Given the description of an element on the screen output the (x, y) to click on. 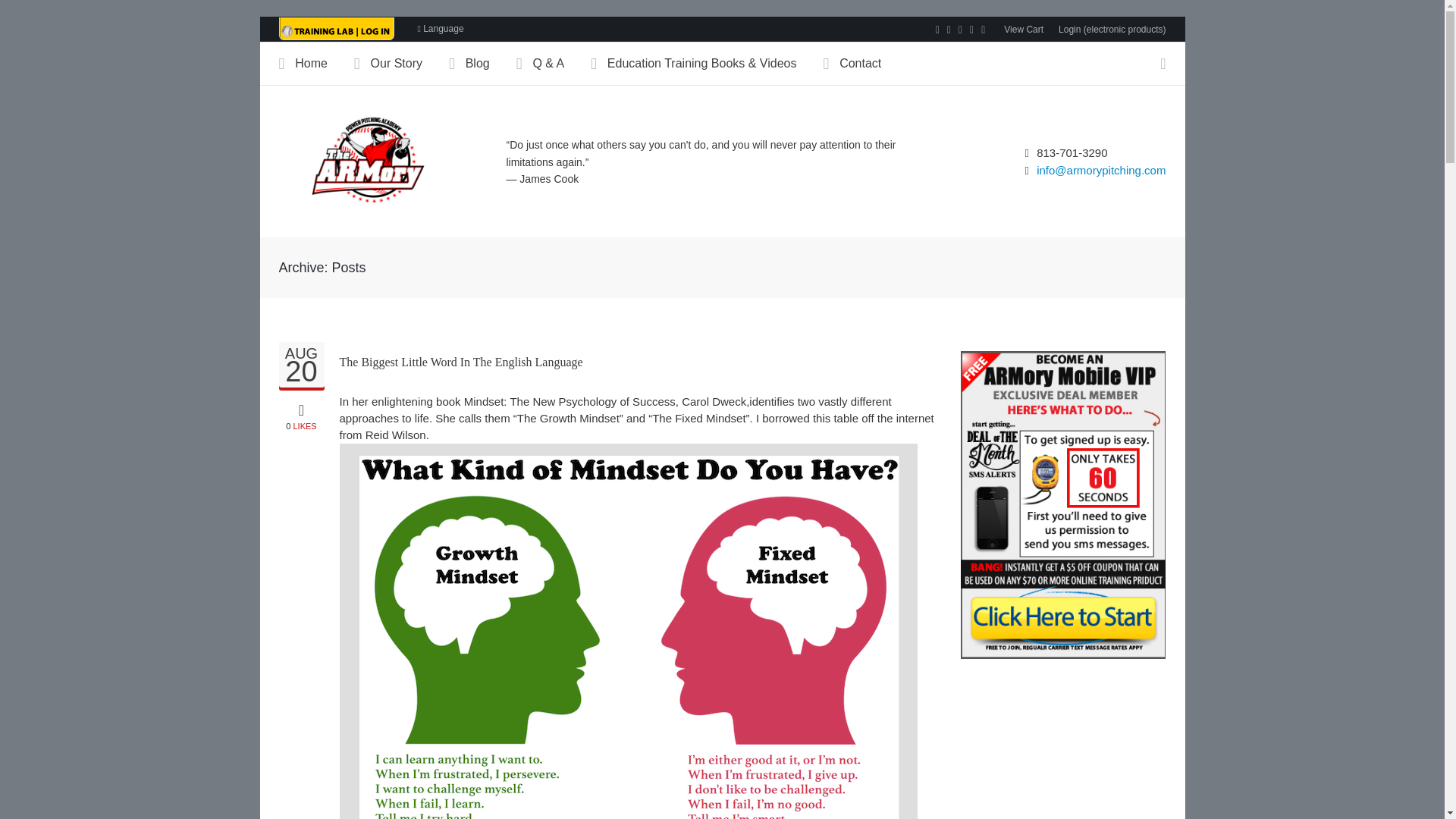
Language (439, 28)
Contact (864, 63)
Our Story (400, 63)
Home (301, 366)
0 LIKES (316, 63)
View Cart (301, 414)
Thursday, August 20th, 2015, 5:39 pm (1023, 29)
Blog (301, 366)
